Given the description of an element on the screen output the (x, y) to click on. 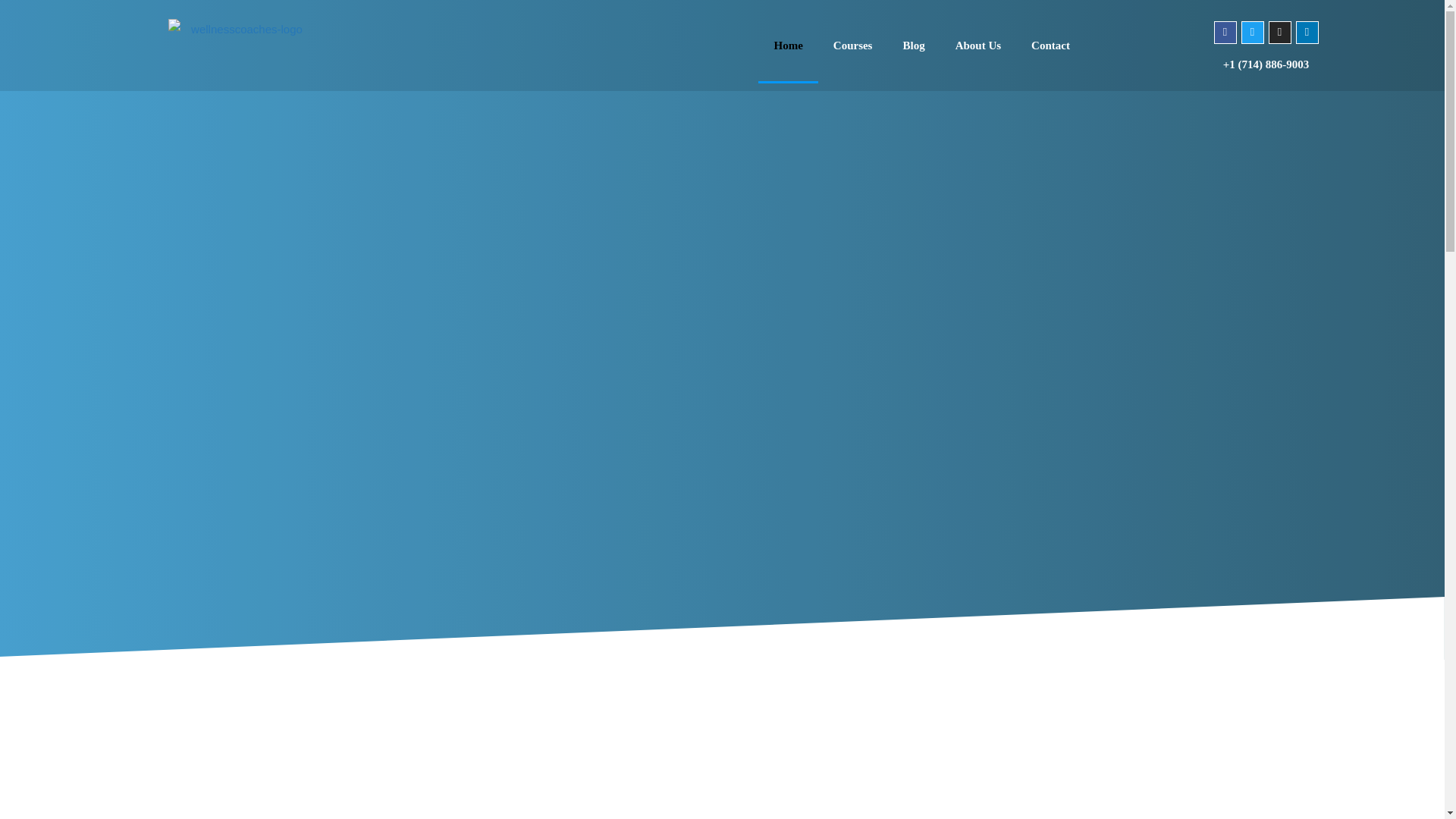
Home (787, 45)
Twitter (1252, 32)
Instagram (1279, 32)
Blog (912, 45)
Facebook (1225, 32)
Courses (853, 45)
About Us (978, 45)
Contact (1050, 45)
wellnesscoaches-logo (240, 45)
Linkedin (1307, 32)
